Given the description of an element on the screen output the (x, y) to click on. 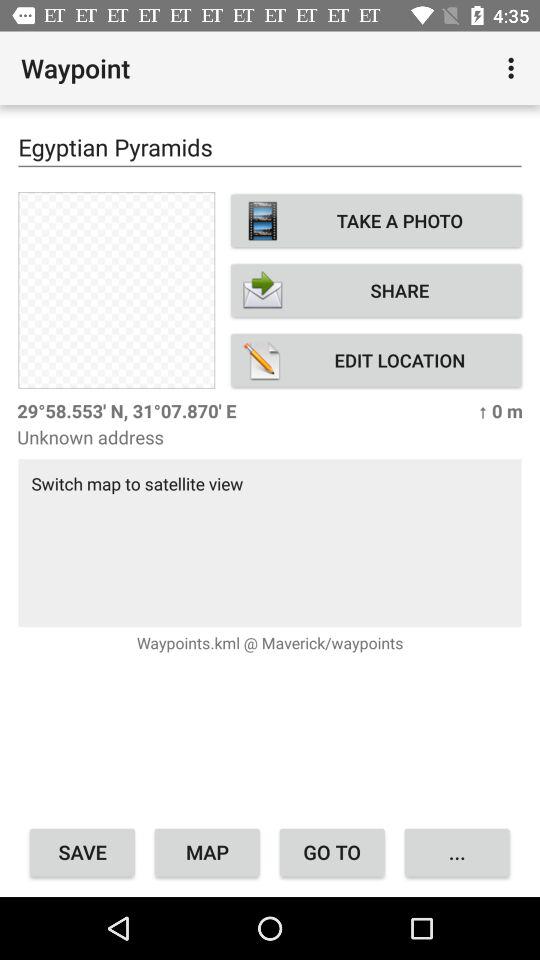
select item next to waypoint item (513, 67)
